Given the description of an element on the screen output the (x, y) to click on. 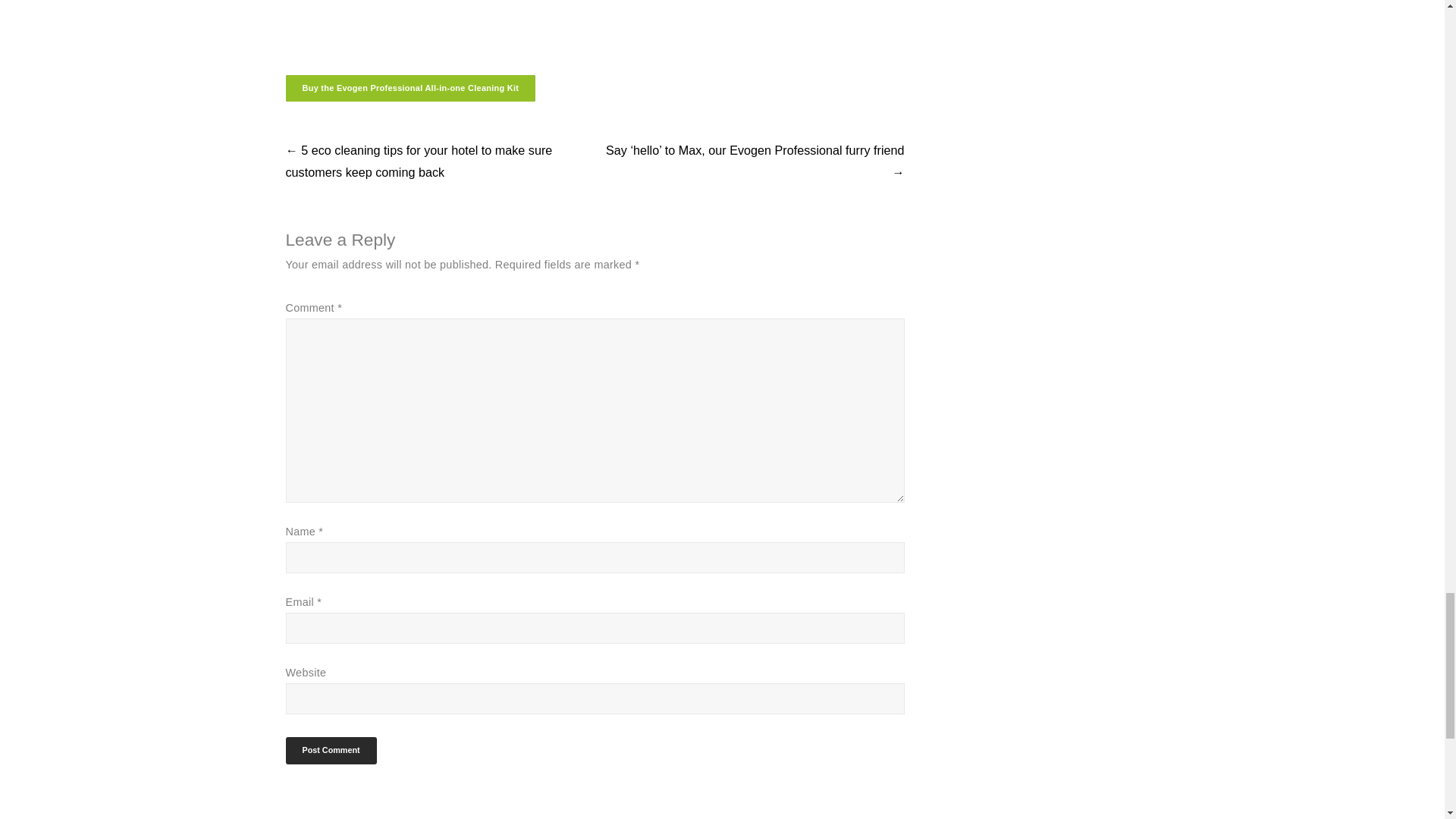
Post Comment (330, 750)
